Given the description of an element on the screen output the (x, y) to click on. 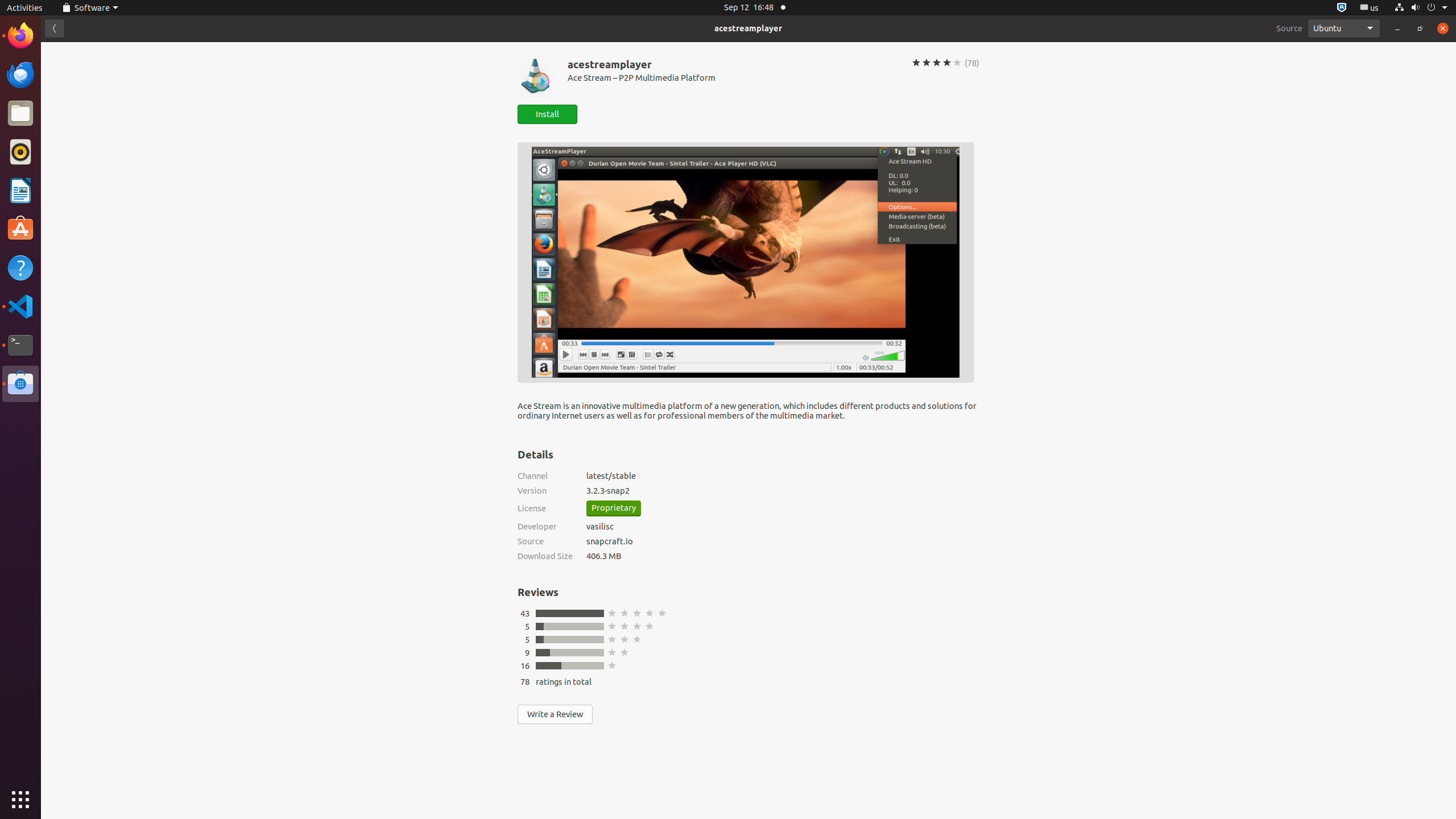
Source Element type: label (1289, 27)
43 Element type: label (524, 613)
3.2.3-snap2 Element type: label (782, 490)
